Given the description of an element on the screen output the (x, y) to click on. 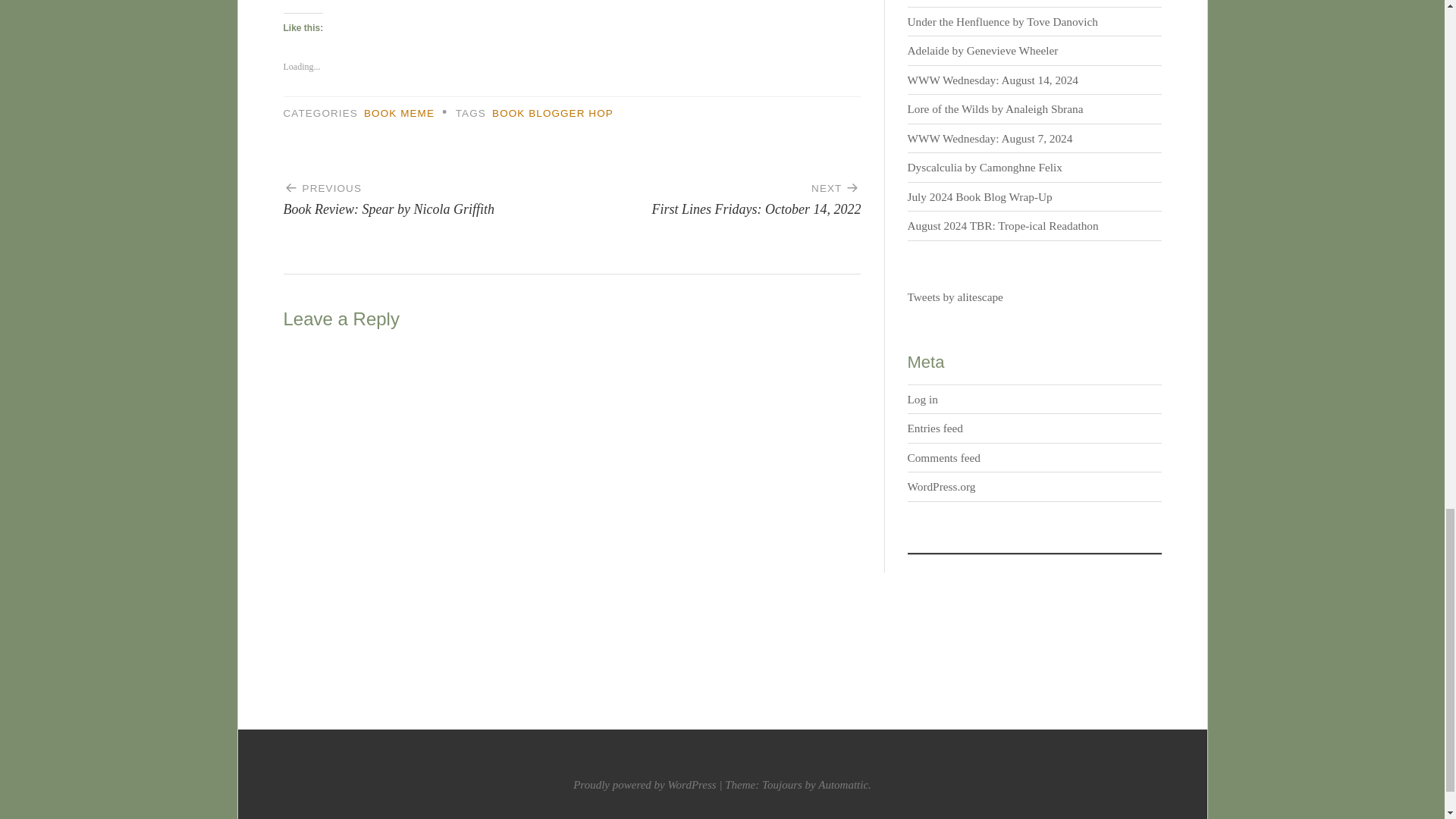
Under the Henfluence by Tove Danovich (427, 193)
Comment Form (1002, 21)
BOOK BLOGGER HOP (982, 50)
BOOK MEME (716, 193)
